Given the description of an element on the screen output the (x, y) to click on. 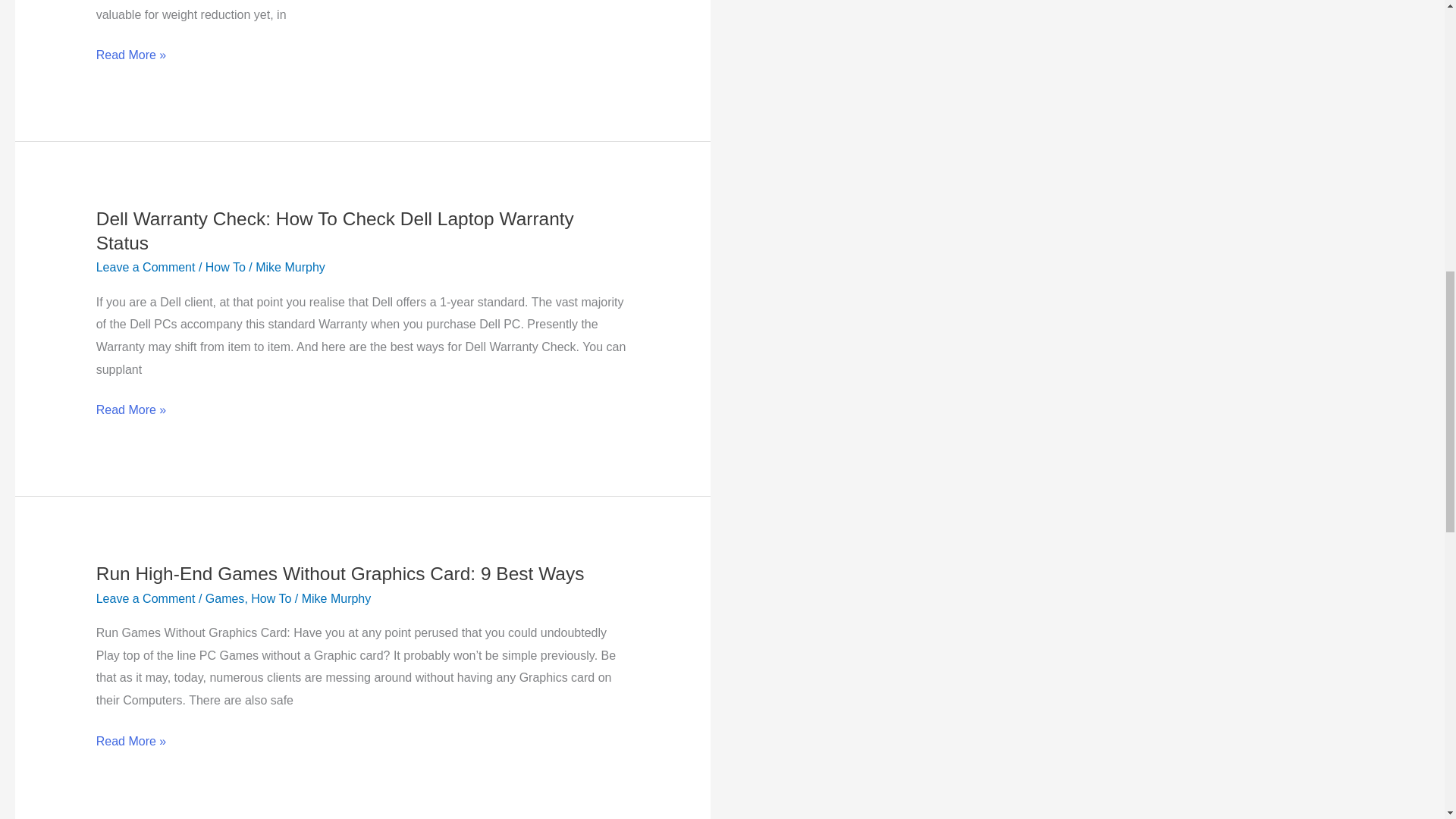
Run High-End Games Without Graphics Card: 9 Best Ways (340, 573)
Leave a Comment (145, 598)
Mike Murphy (290, 267)
How To (225, 267)
How To (270, 598)
View all posts by Mike Murphy (290, 267)
Mike Murphy (336, 598)
Games (224, 598)
Leave a Comment (145, 267)
View all posts by Mike Murphy (336, 598)
